Given the description of an element on the screen output the (x, y) to click on. 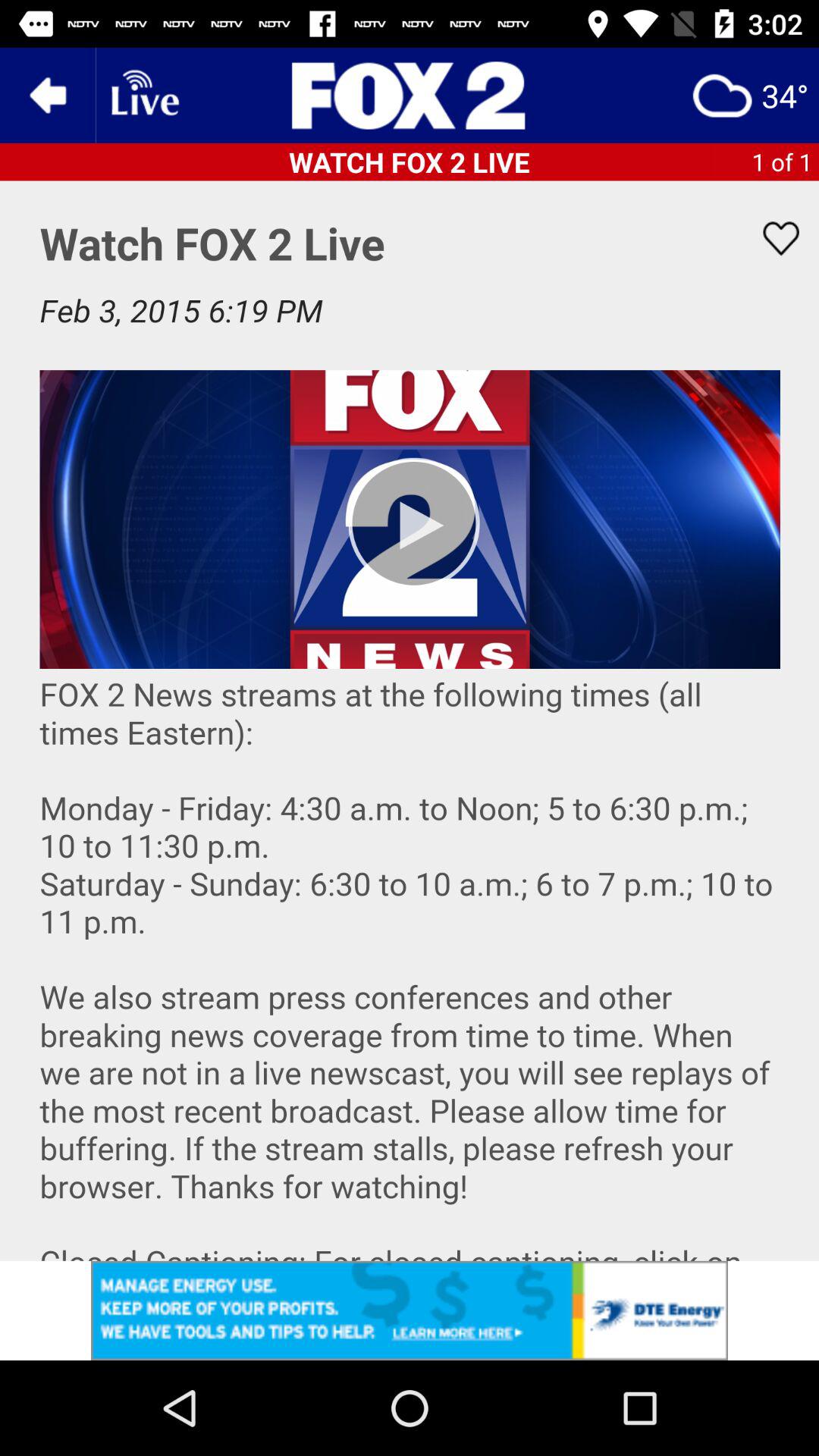
get live updates from the news (143, 95)
